Given the description of an element on the screen output the (x, y) to click on. 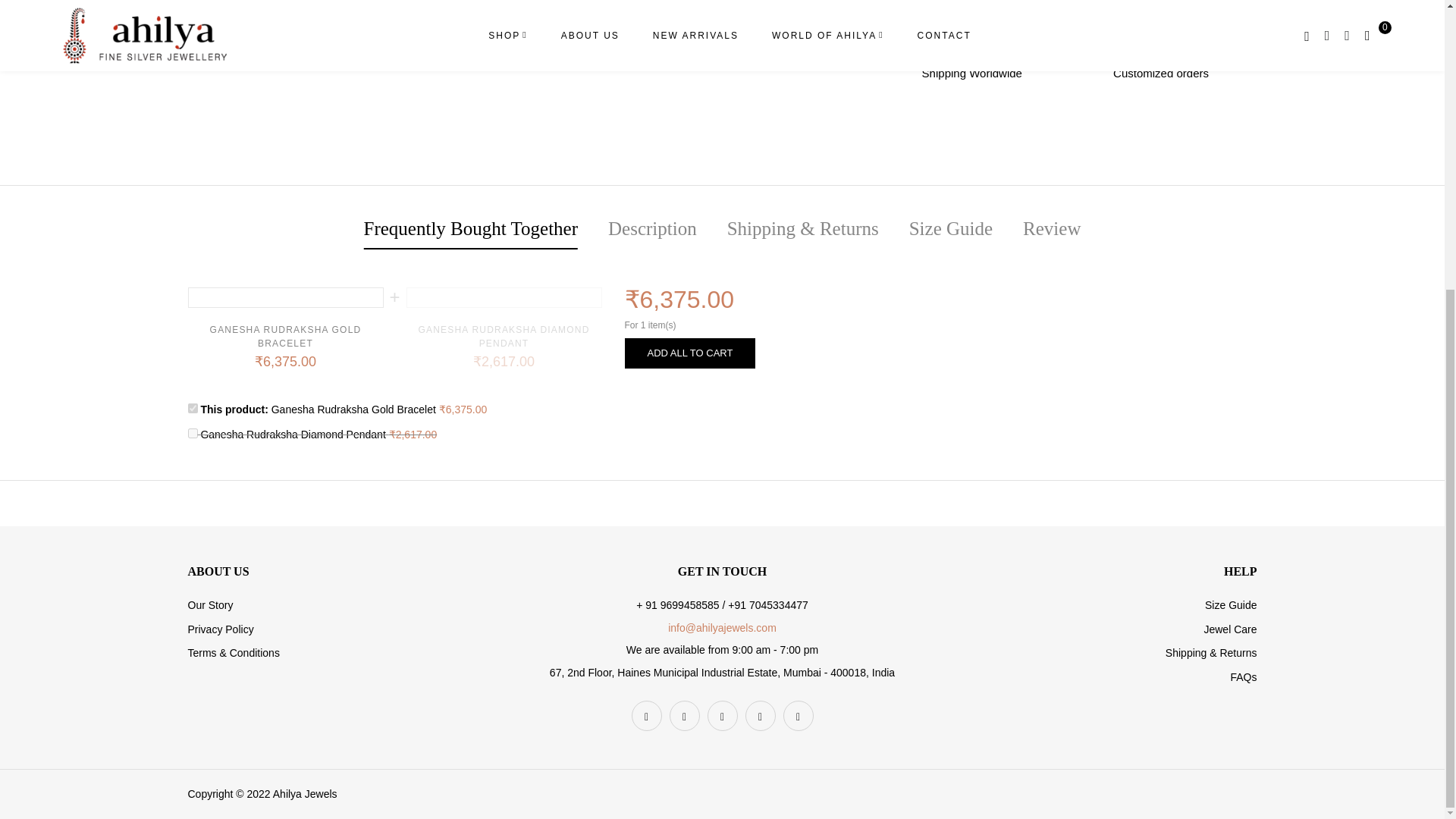
on (192, 408)
on (192, 433)
